Given the description of an element on the screen output the (x, y) to click on. 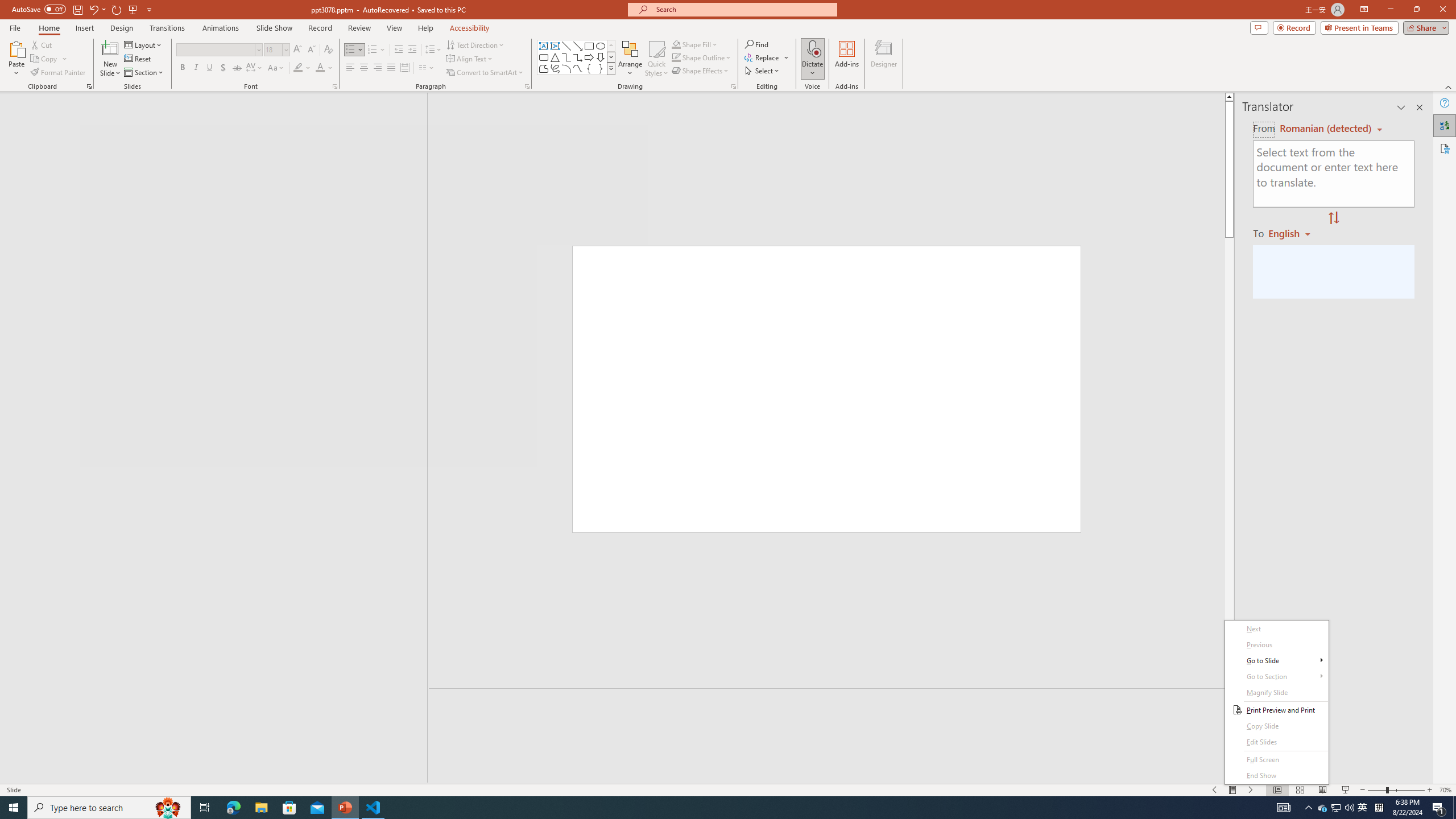
Section (144, 72)
Font Size (273, 49)
Font... (334, 85)
Right Brace (600, 68)
Class: MsoCommandBar (728, 45)
Go to Section (1276, 676)
Magnify Slide (1276, 692)
Context Menu (1276, 701)
PowerPoint - 1 running window (345, 807)
